Given the description of an element on the screen output the (x, y) to click on. 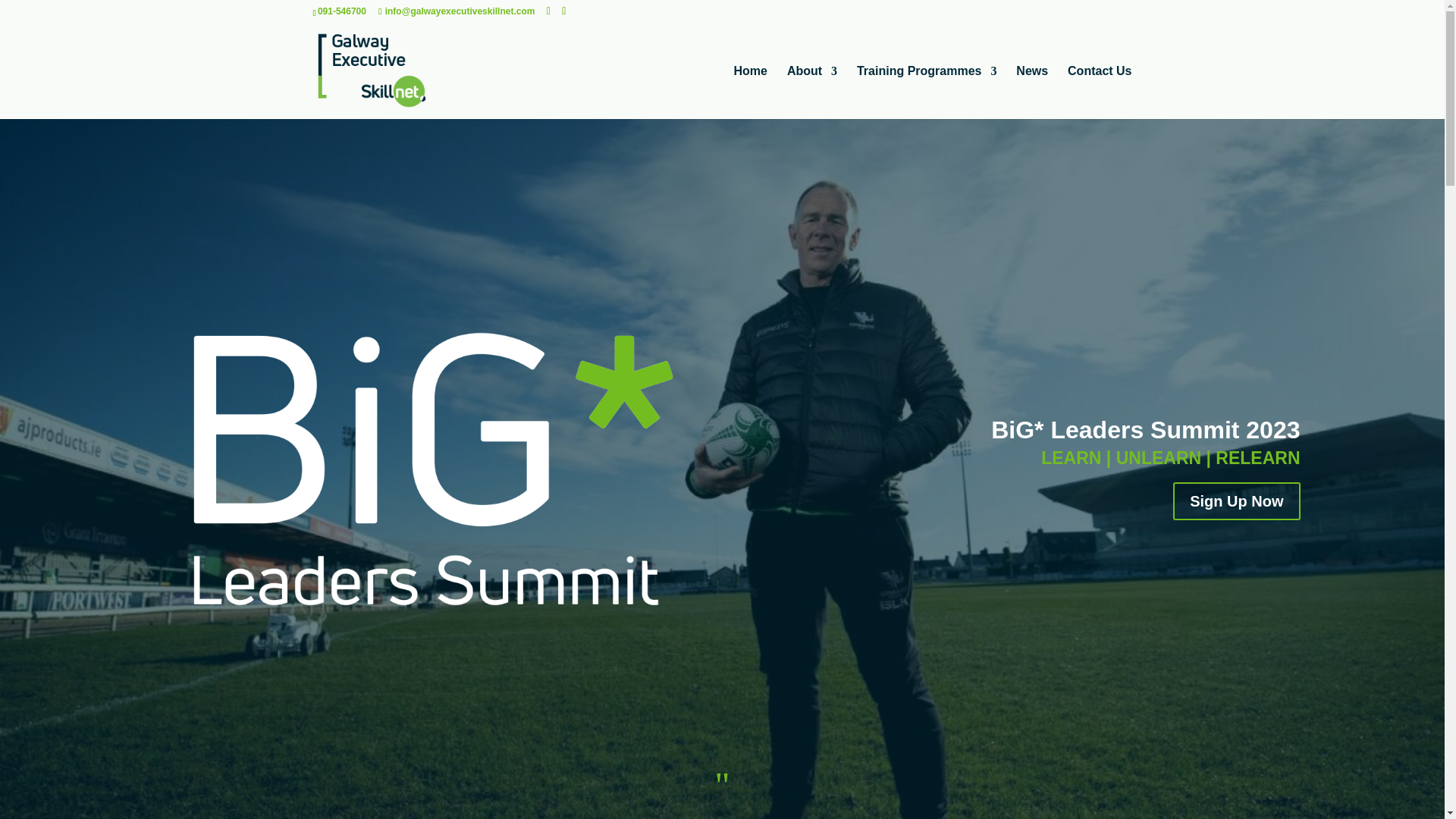
Contact Us (1099, 92)
About (812, 92)
Training Programmes (927, 92)
Sign Up Now (1236, 501)
